Given the description of an element on the screen output the (x, y) to click on. 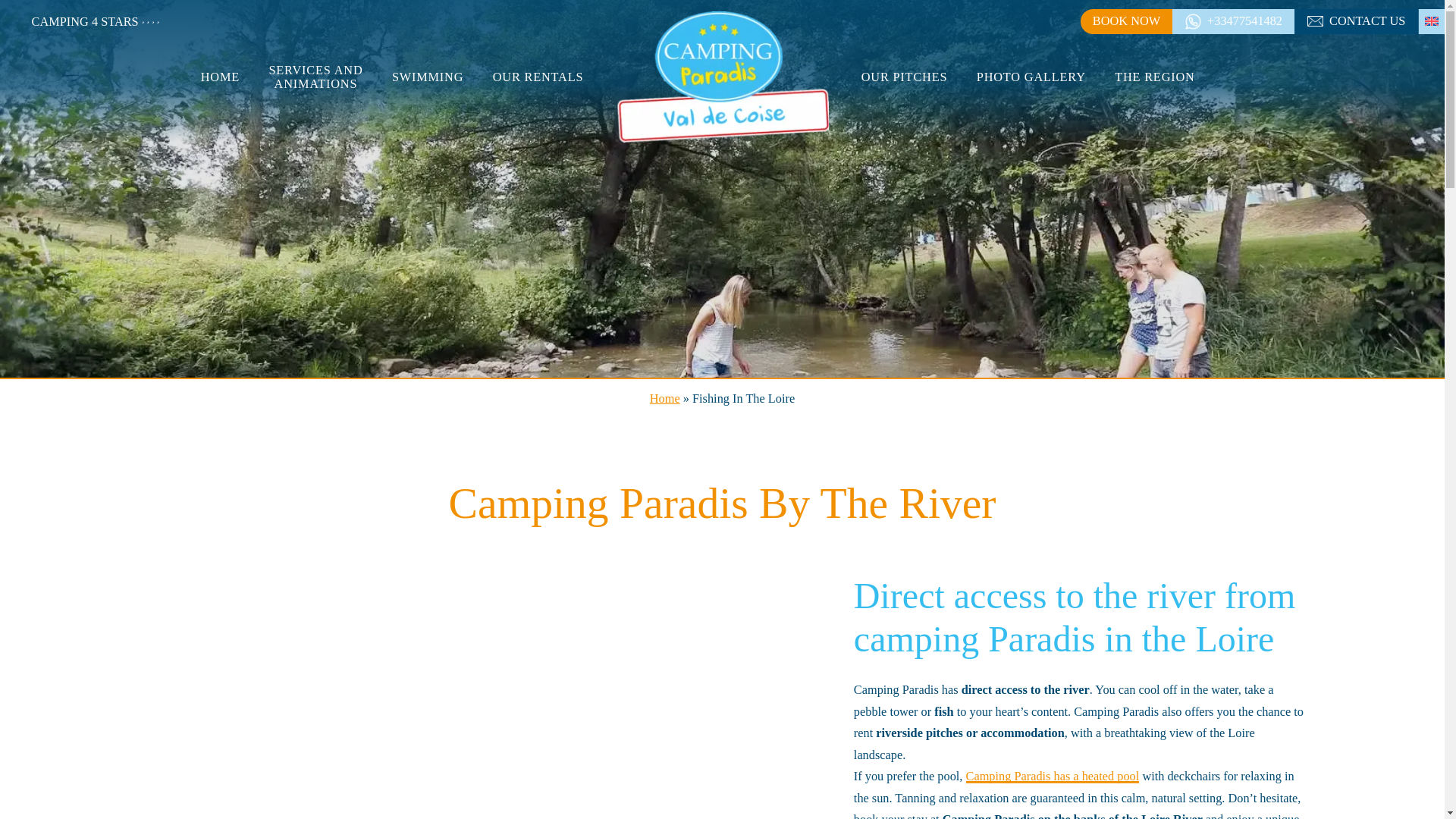
SWIMMING (427, 77)
BOOK NOW (1126, 21)
Camping Paradis has a heated pool (1053, 775)
OUR RENTALS (538, 77)
OUR PITCHES (904, 77)
HOME (220, 77)
Home (664, 398)
CONTACT US (1356, 21)
PHOTO GALLERY (1031, 77)
THE REGION (1155, 77)
